Given the description of an element on the screen output the (x, y) to click on. 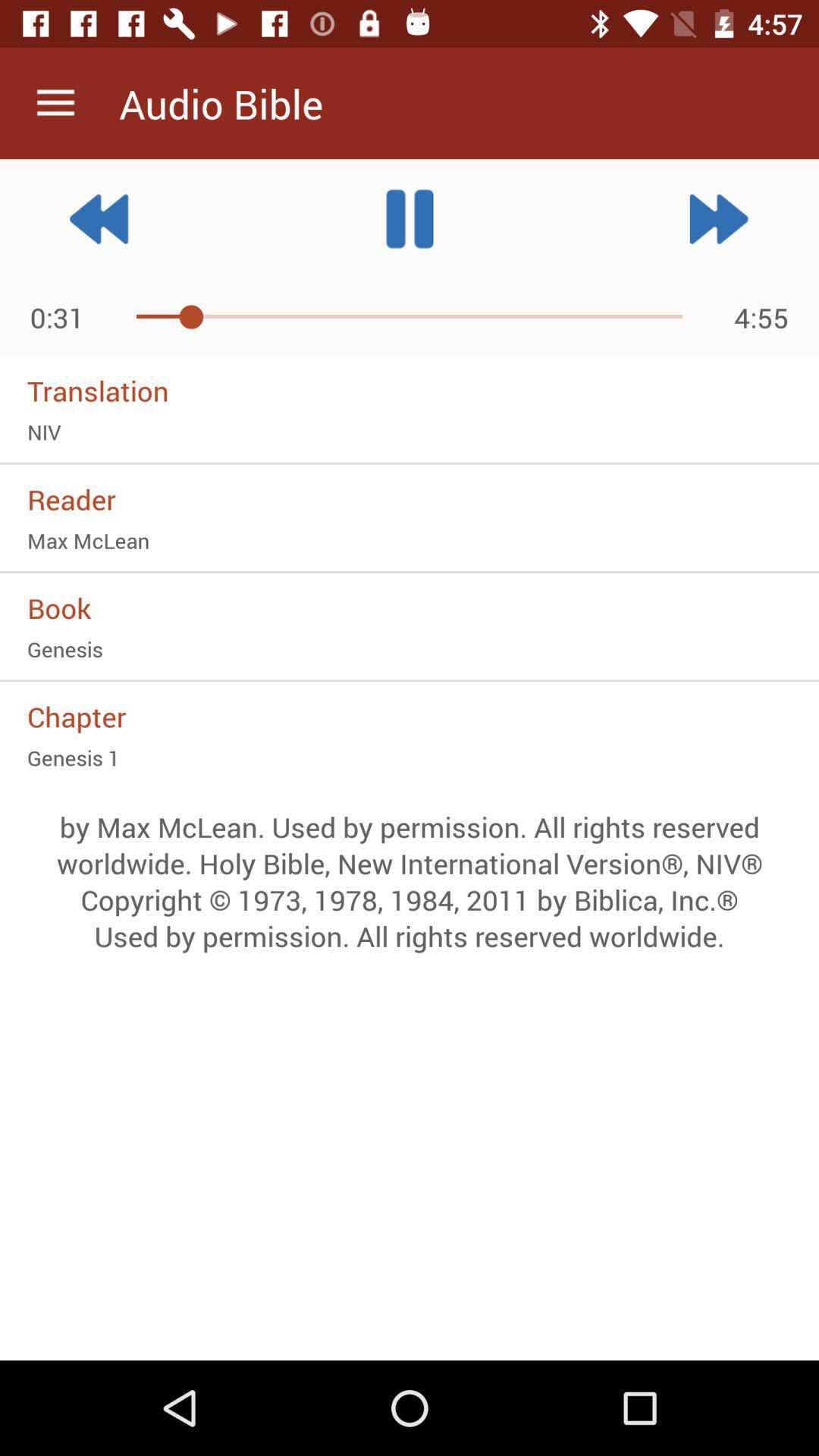
tap item below the genesis (409, 716)
